Given the description of an element on the screen output the (x, y) to click on. 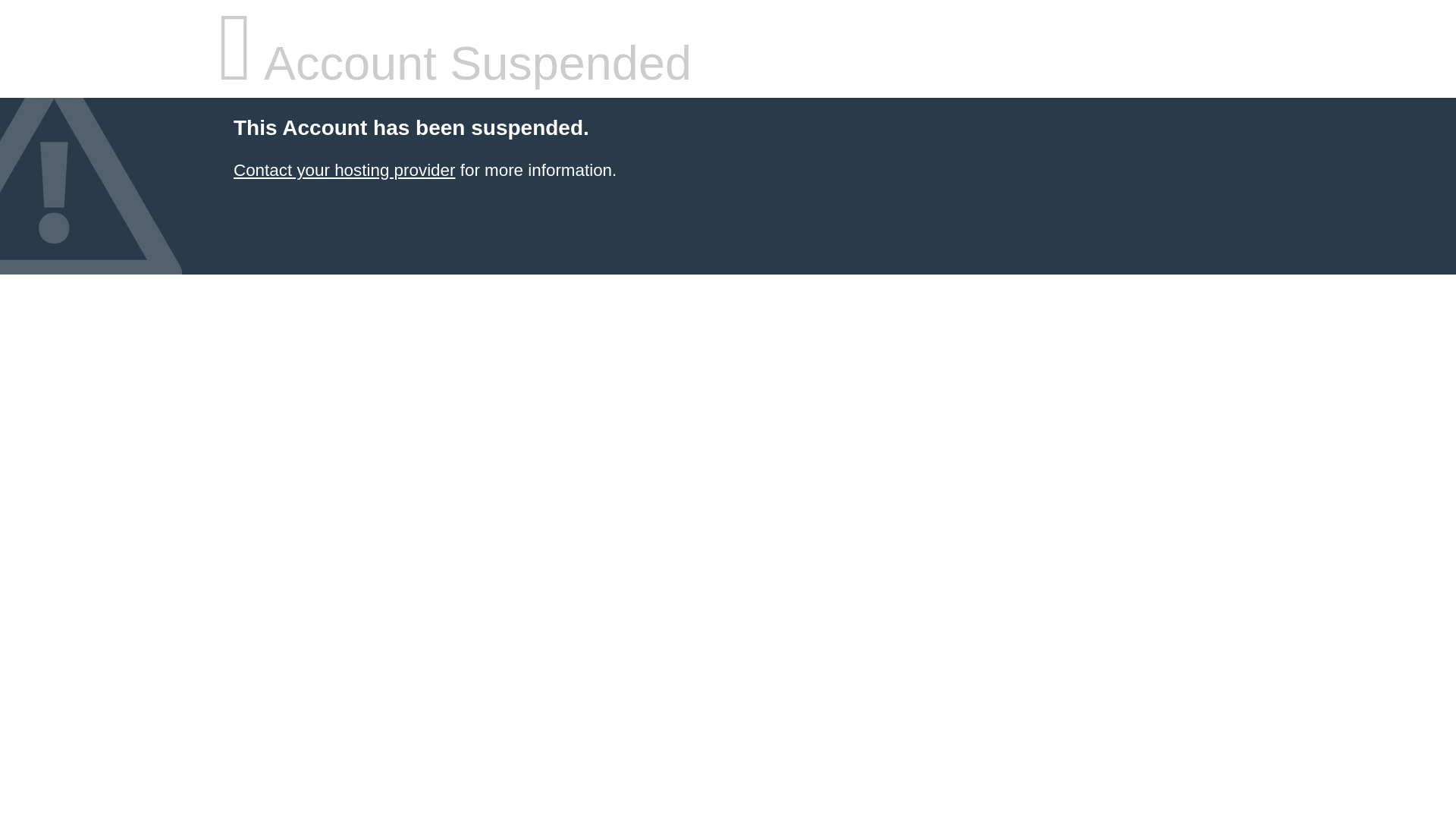
Contact your hosting provider (343, 169)
